Given the description of an element on the screen output the (x, y) to click on. 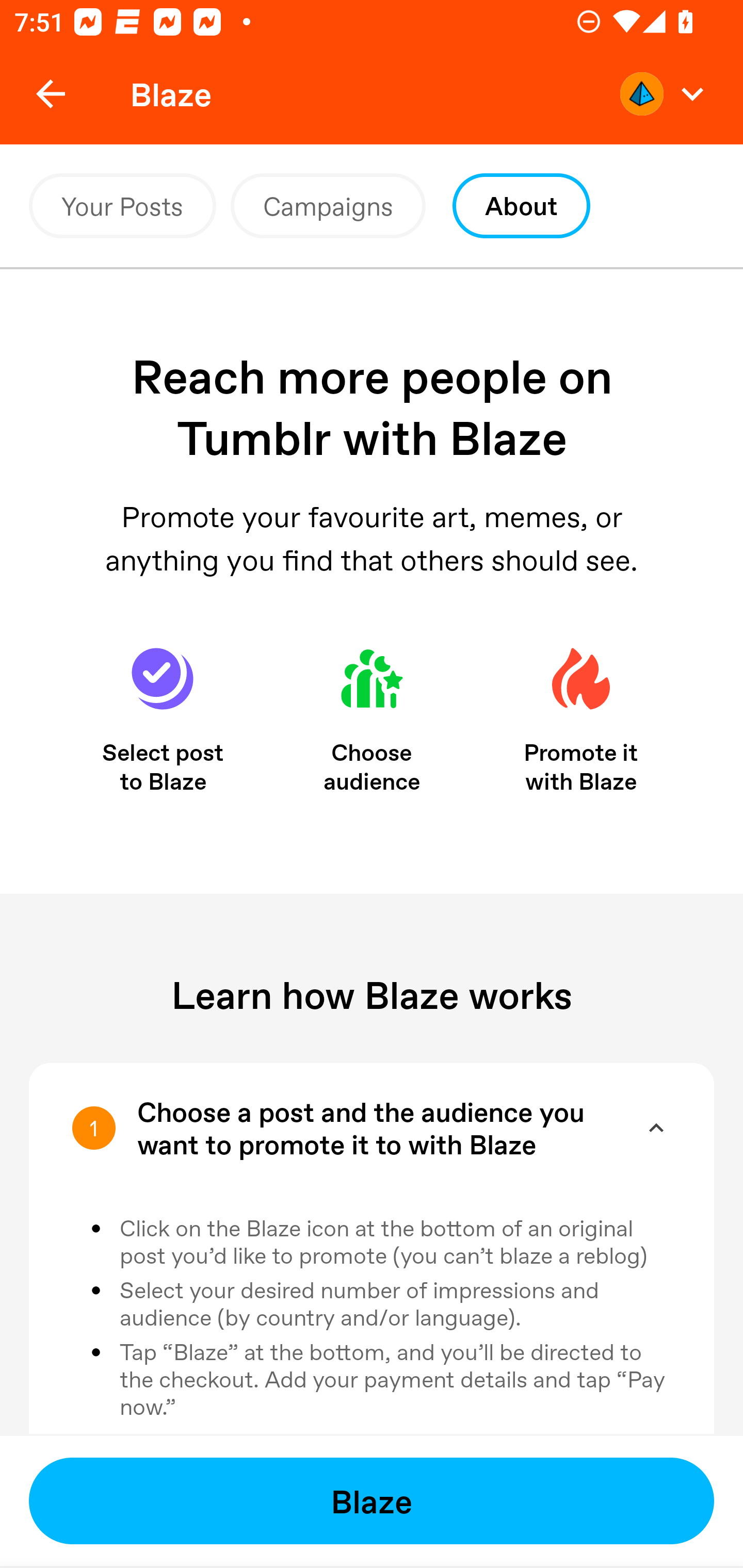
Back (50, 93)
Your Posts (122, 206)
Campaigns (328, 206)
Collapse (655, 1128)
Blaze (371, 1501)
